Given the description of an element on the screen output the (x, y) to click on. 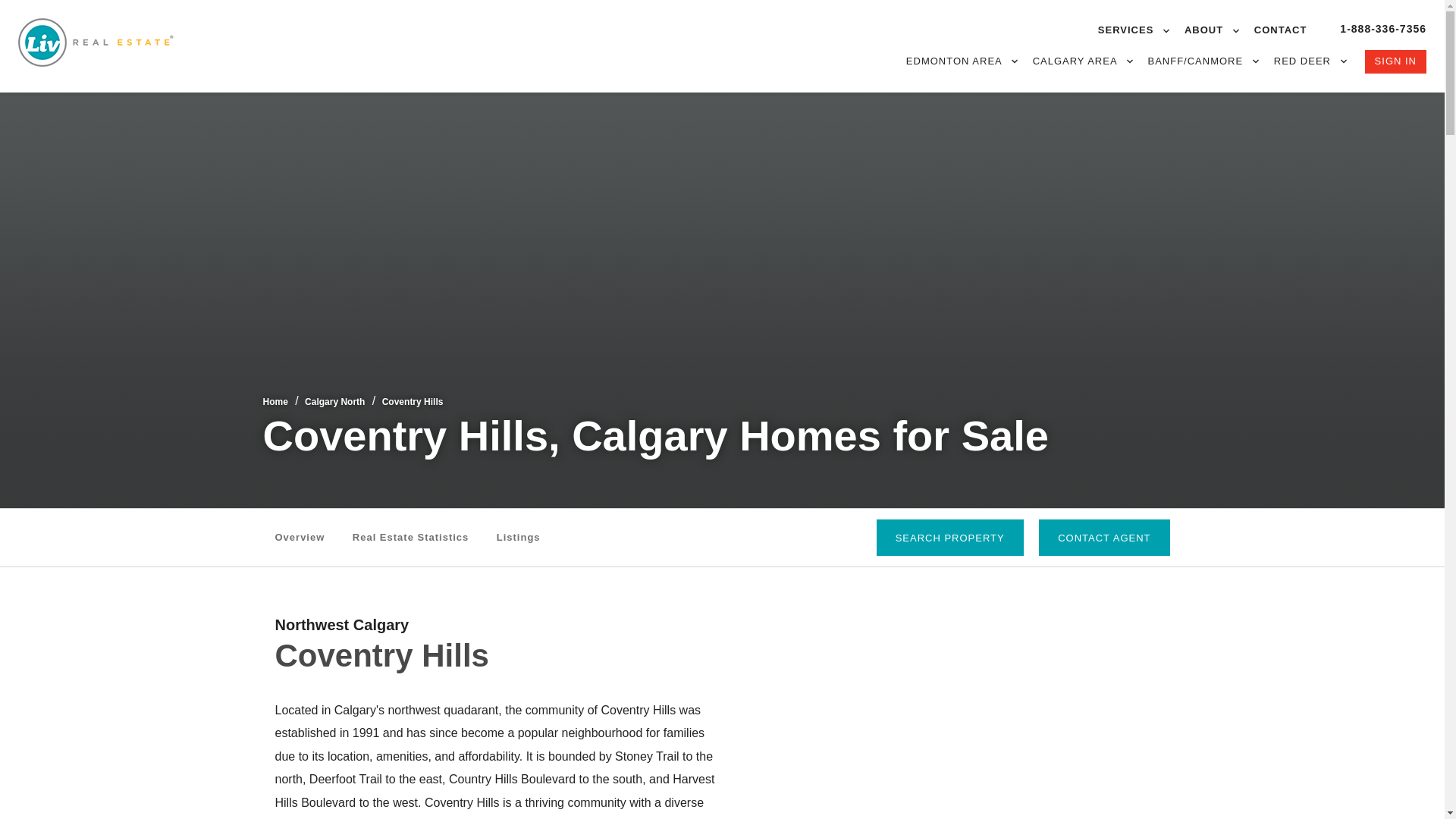
1-888-336-7356 (1382, 29)
CALGARY AREA DROPDOWN ARROW (1082, 61)
DROPDOWN ARROW (1129, 61)
DROPDOWN ARROW (1014, 61)
EDMONTON AREA DROPDOWN ARROW (961, 61)
DROPDOWN ARROW (1255, 61)
SERVICES DROPDOWN ARROW (1133, 30)
CONTACT (1280, 30)
DROPDOWN ARROW (1343, 61)
DROPDOWN ARROW (1236, 30)
ABOUT DROPDOWN ARROW (1212, 30)
DROPDOWN ARROW (1166, 30)
